Given the description of an element on the screen output the (x, y) to click on. 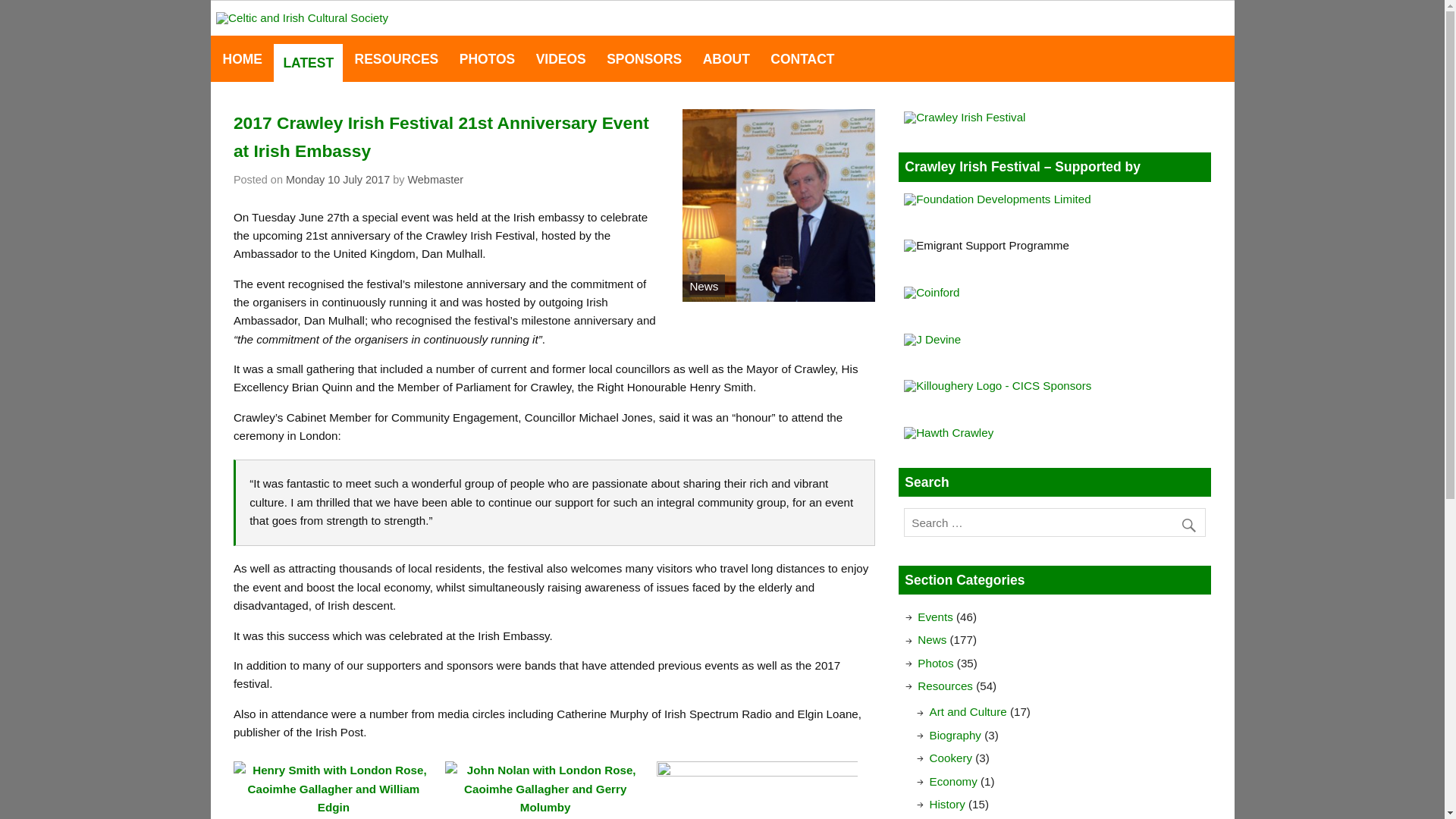
Cookery (951, 757)
Home (241, 59)
News (931, 639)
Webmaster (435, 179)
VIDEOS (559, 59)
ABOUT (725, 59)
SPONSORS (643, 59)
Events (934, 616)
Economy (953, 780)
Biography (955, 735)
Photos (935, 662)
RESOURCES (395, 59)
About the Society (725, 59)
Monday 10 July 2017 (337, 179)
